Given the description of an element on the screen output the (x, y) to click on. 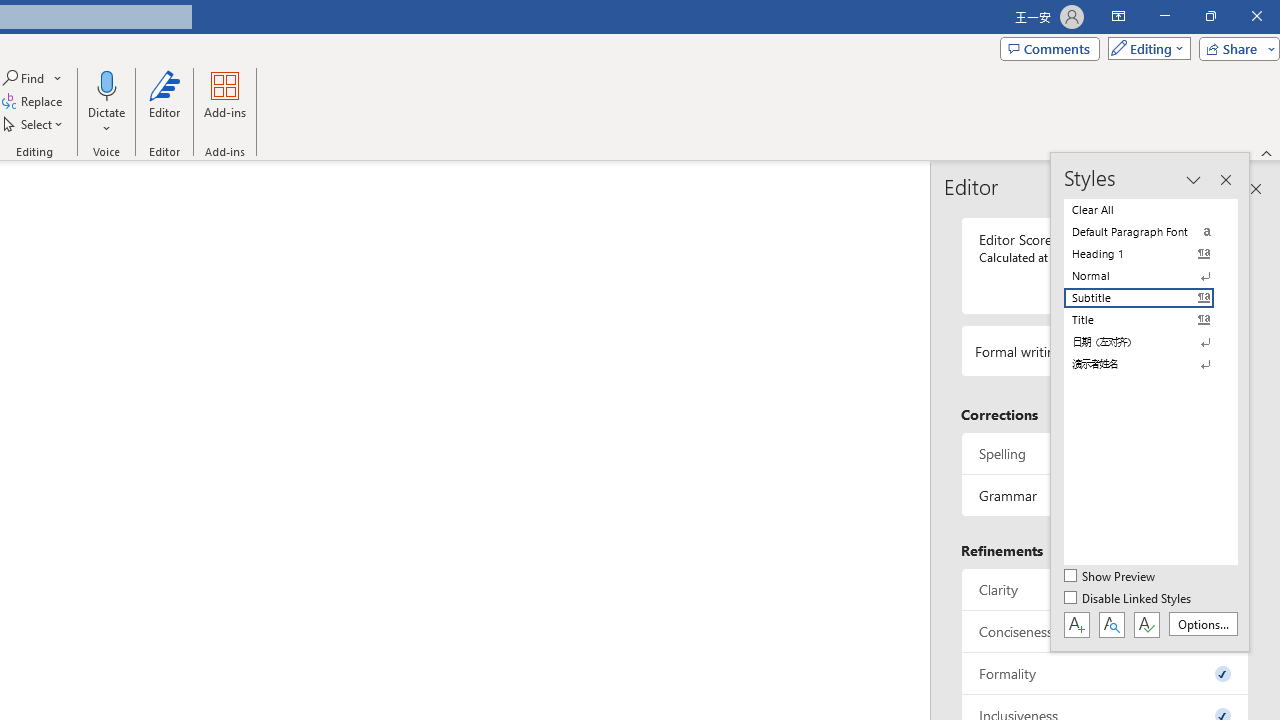
Clarity, 0 issues. Press space or enter to review items. (1105, 588)
Disable Linked Styles (1129, 599)
